Given the description of an element on the screen output the (x, y) to click on. 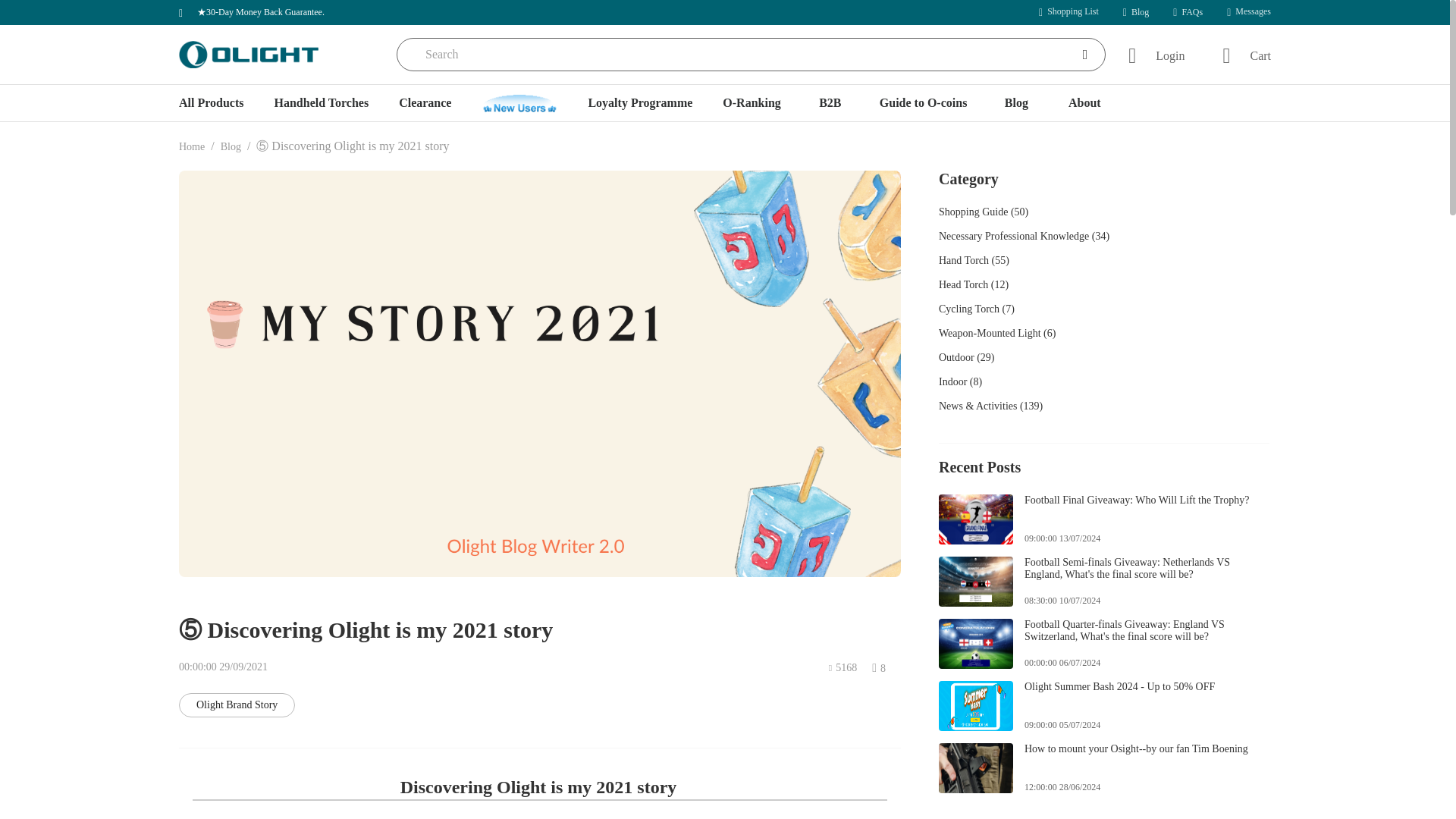
Blog (1135, 11)
About (1084, 103)
Clearance (424, 103)
FAQs (1187, 11)
Blog (231, 146)
O-Ranking (751, 103)
O-Ranking (750, 103)
Loyalty Programme (640, 103)
Handheld Torches (320, 103)
Guide to O-coins (923, 103)
All Products (219, 103)
Handheld Torches (321, 103)
All Products (211, 103)
Guide to O-coins (923, 103)
